Given the description of an element on the screen output the (x, y) to click on. 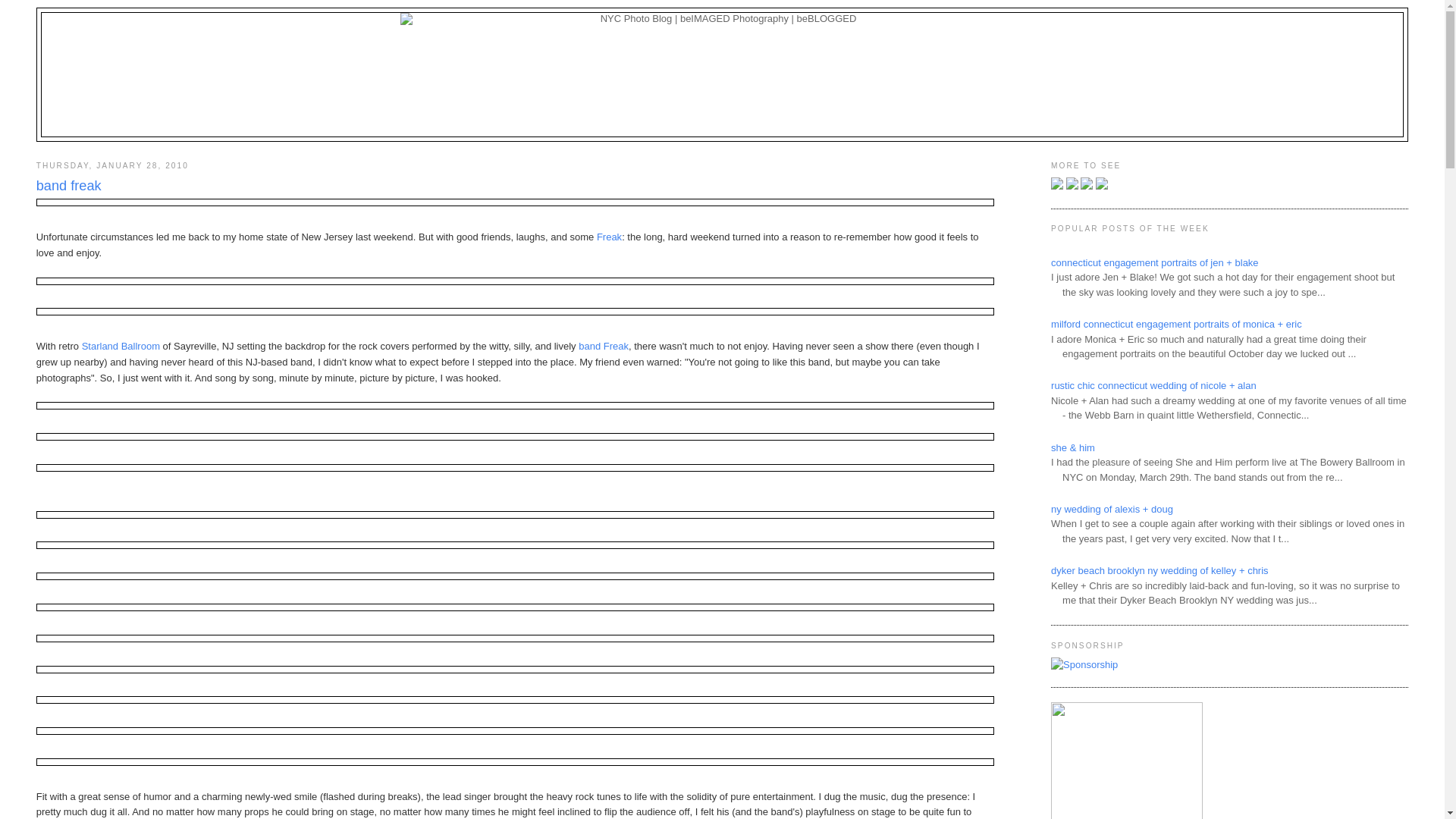
Starland Ballroom (120, 346)
band Freak (603, 346)
Freak (608, 236)
band freak (515, 185)
